Given the description of an element on the screen output the (x, y) to click on. 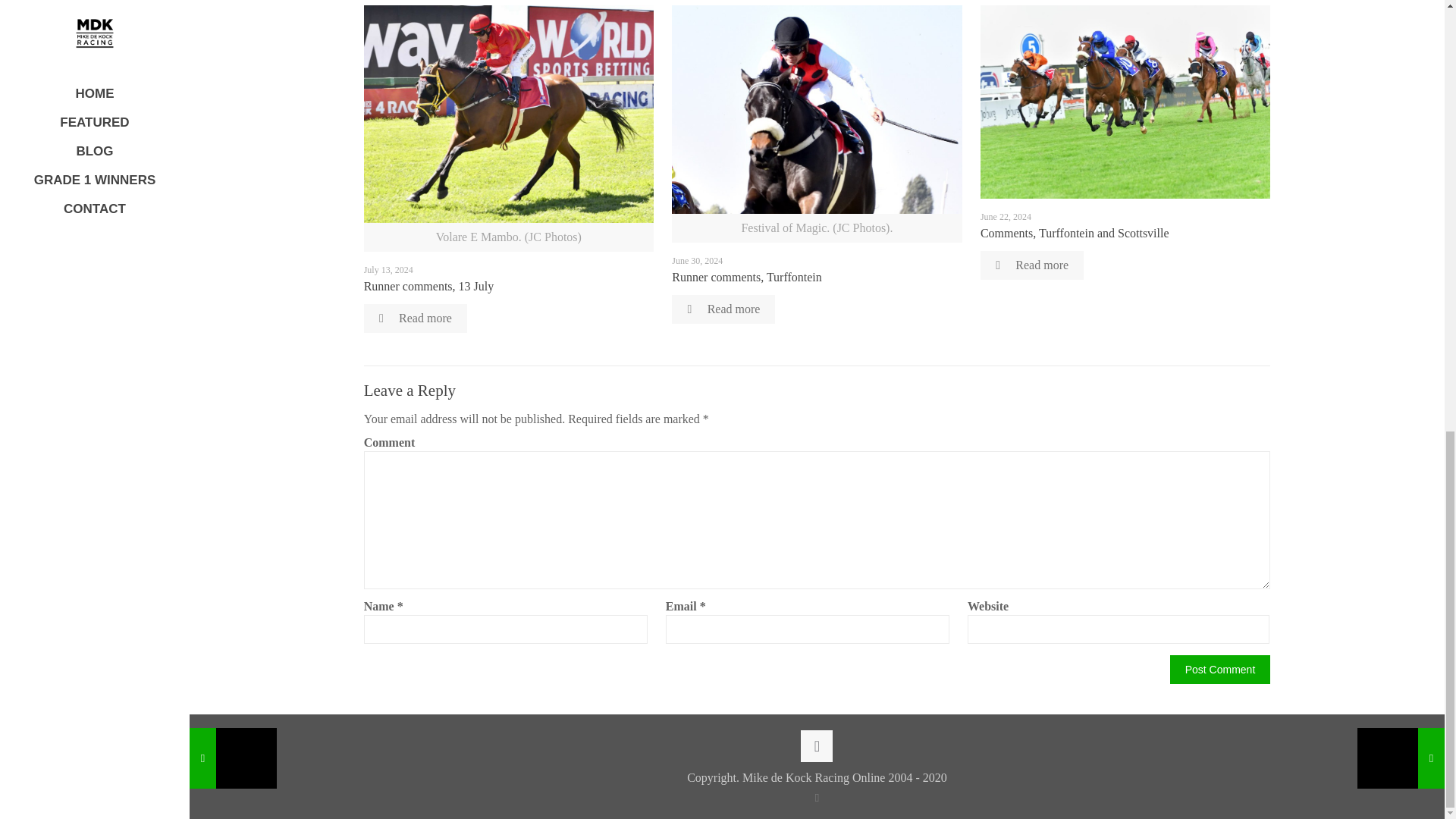
Twitter (817, 797)
Read more (722, 308)
Post Comment (1220, 669)
Runner comments, Turffontein (746, 277)
Read more (1031, 265)
Runner comments, 13 July (429, 286)
Read more (415, 317)
Comments, Turffontein and Scottsville (1074, 232)
